Given the description of an element on the screen output the (x, y) to click on. 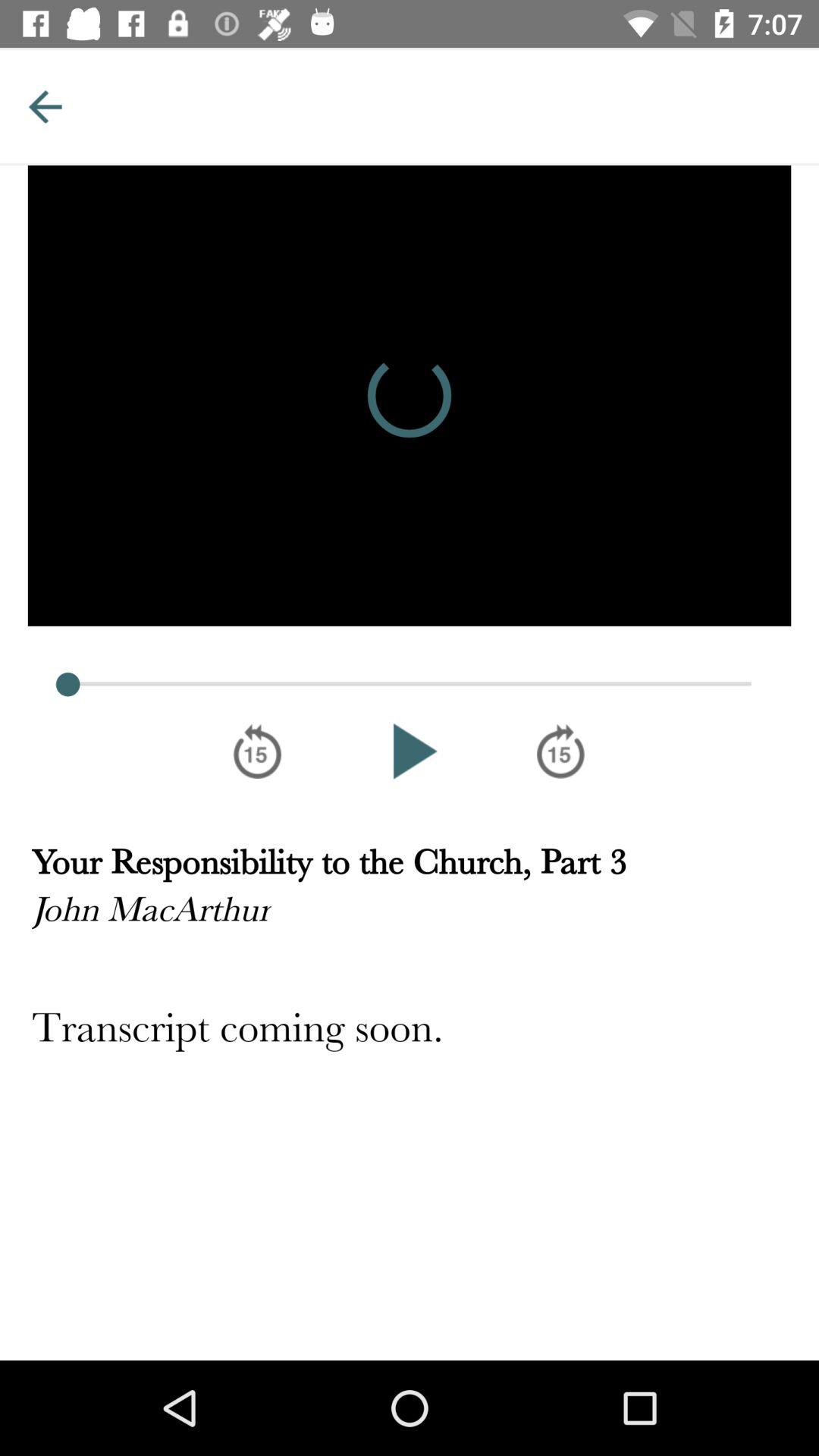
press item at the top left corner (45, 106)
